Given the description of an element on the screen output the (x, y) to click on. 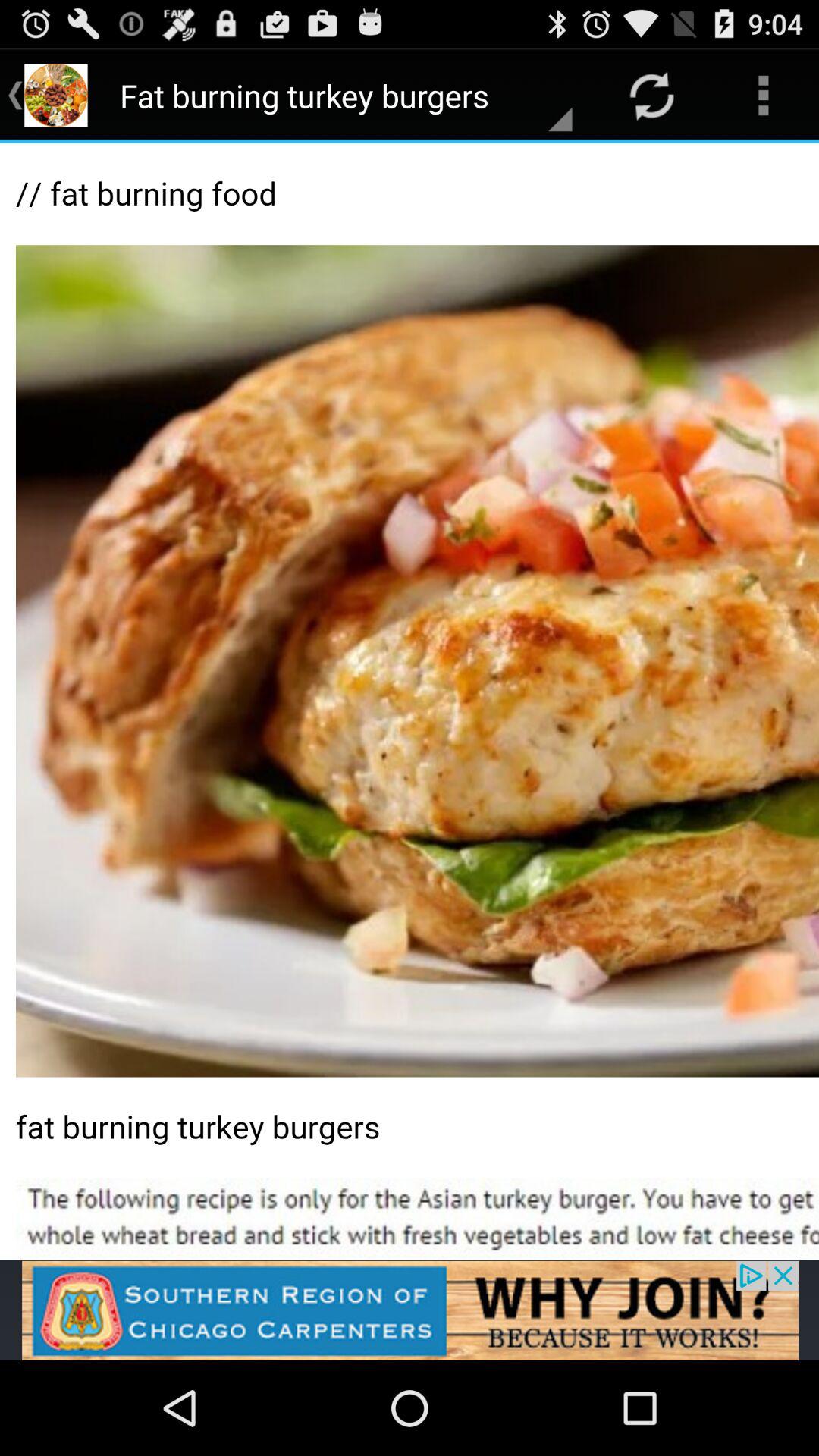
view advertisement (409, 1310)
